Given the description of an element on the screen output the (x, y) to click on. 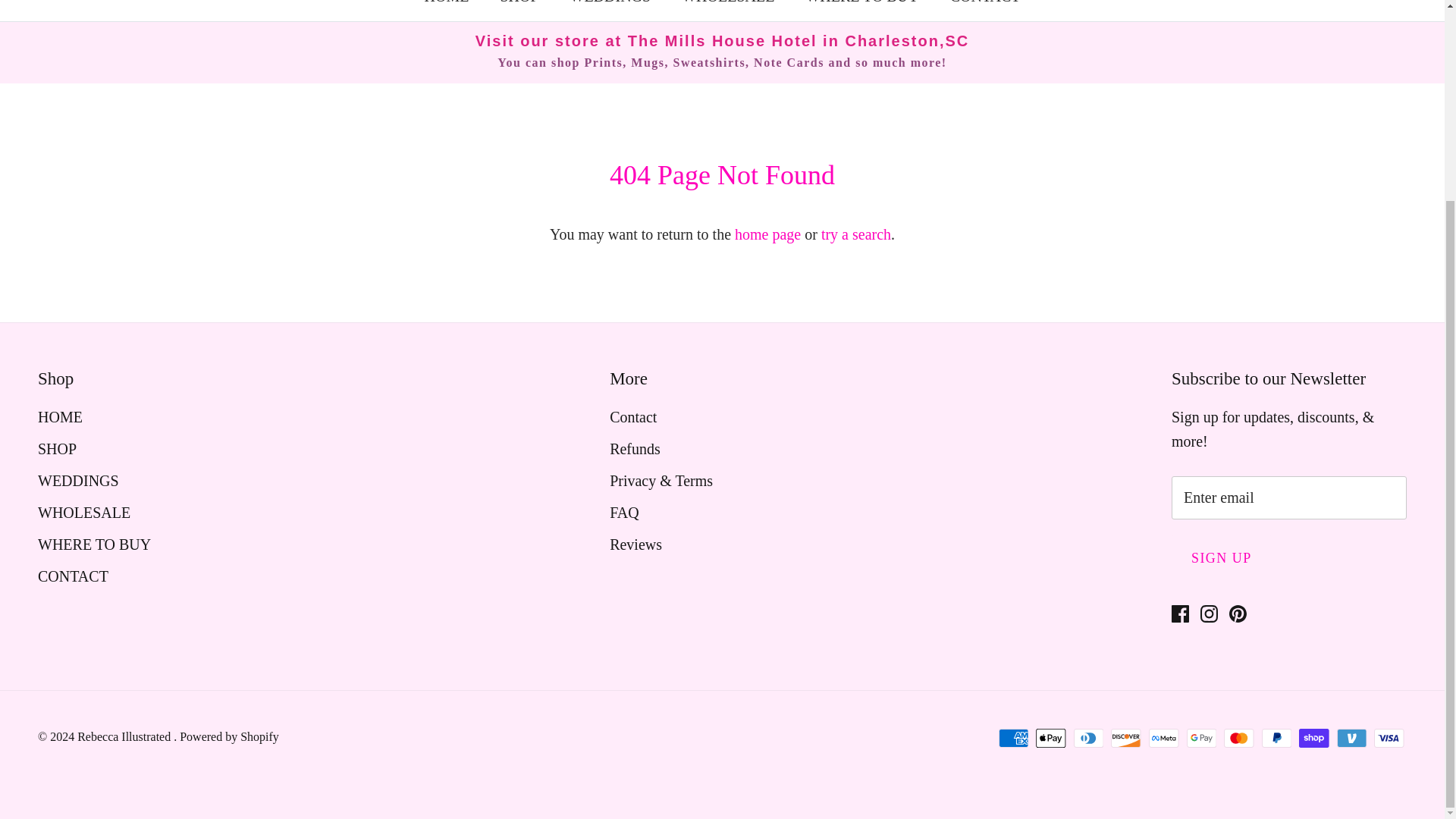
Shop Pay (1313, 737)
Mastercard (1238, 737)
Instagram (1208, 613)
Meta Pay (1163, 737)
Facebook (1180, 613)
American Express (1013, 737)
PayPal (1276, 737)
Discover (1125, 737)
Apple Pay (1050, 737)
Visa (1388, 737)
